Given the description of an element on the screen output the (x, y) to click on. 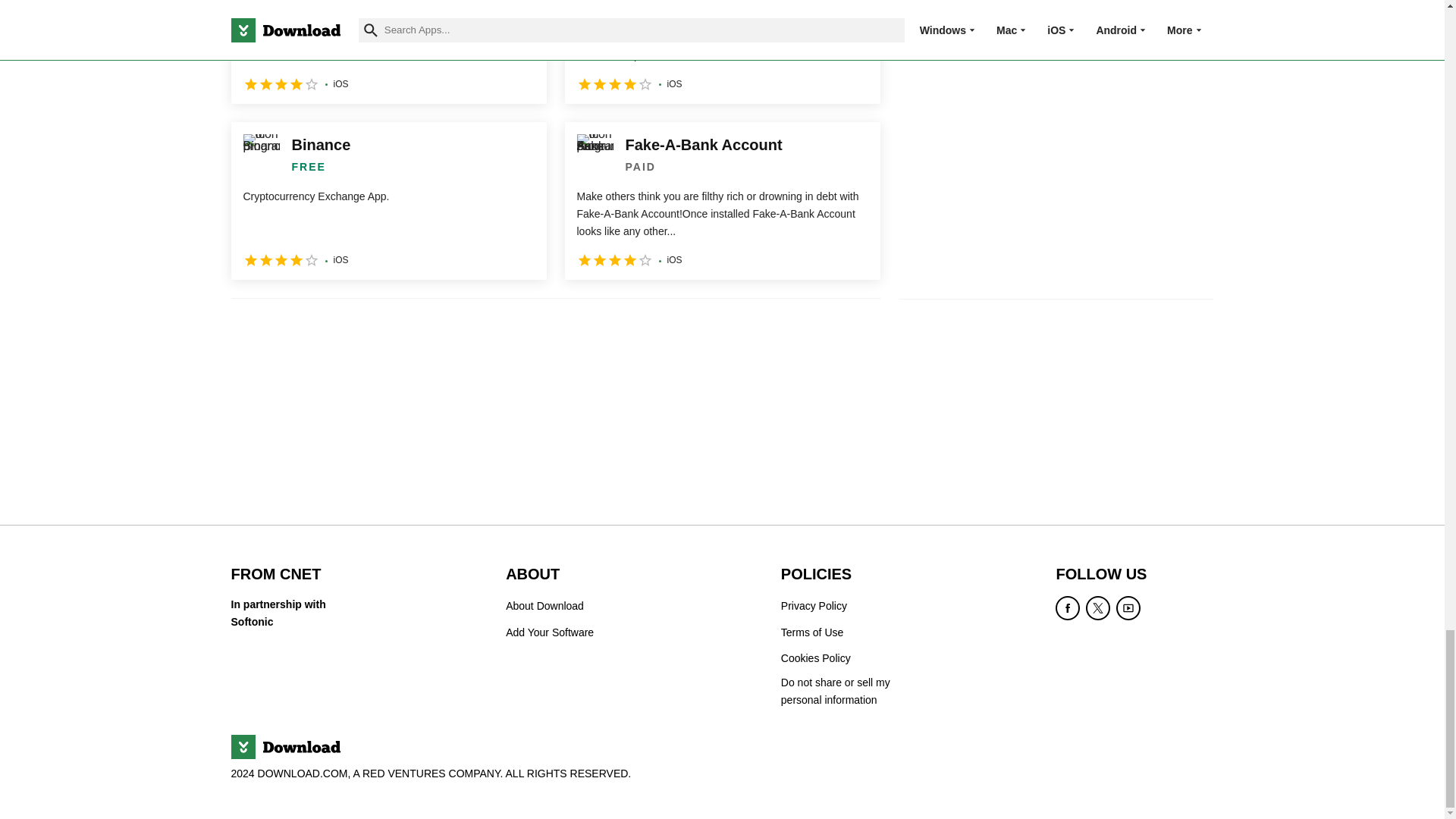
Download.com (284, 746)
Universe on the move (388, 51)
Become a Facebook fan of Download.com (1067, 607)
Binance (388, 201)
Fake-A-Bank Account (721, 201)
iVMS-4500 lite (721, 51)
